Given the description of an element on the screen output the (x, y) to click on. 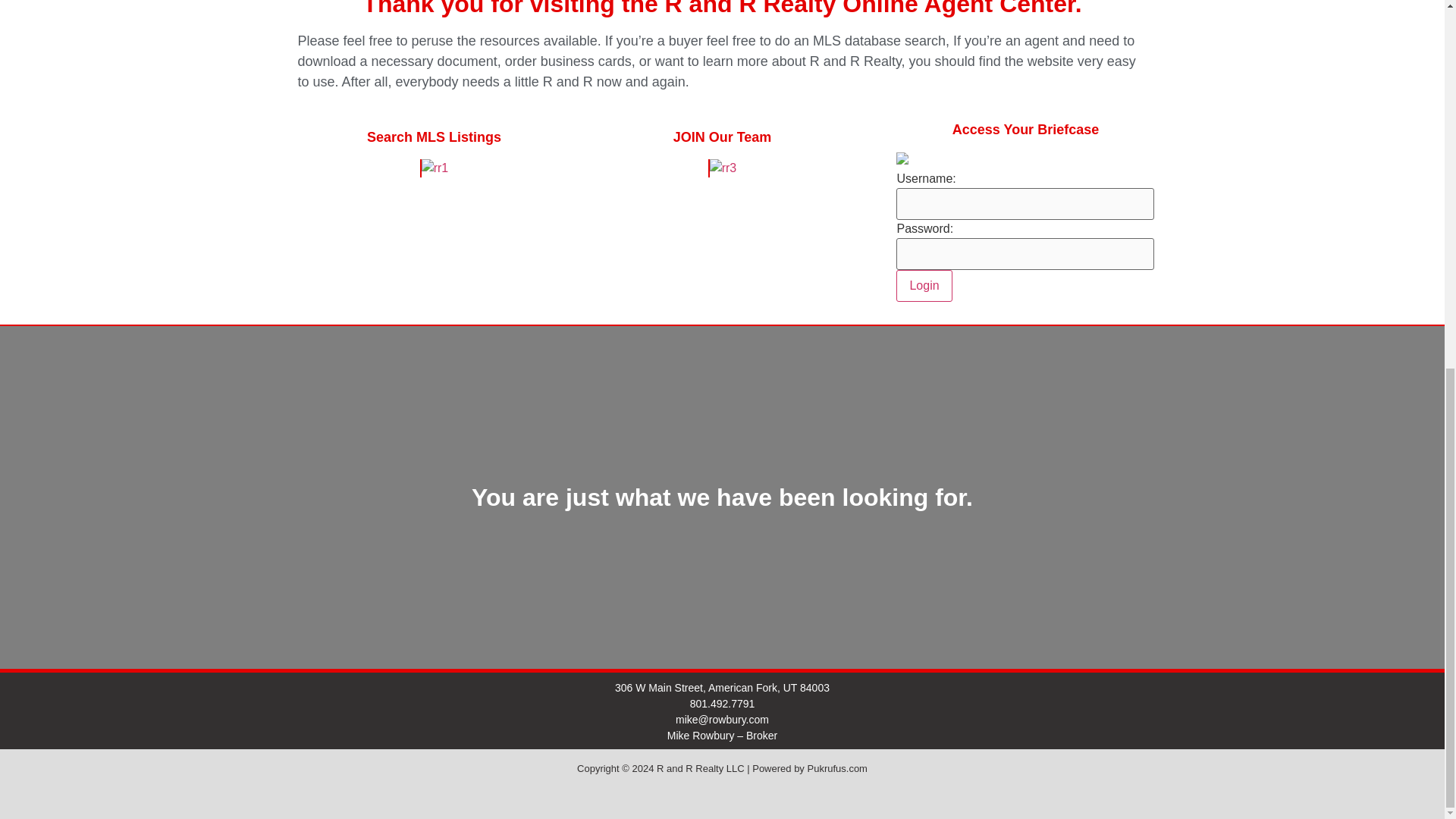
Login (924, 286)
Login (924, 286)
rr1 (434, 167)
rr3 (721, 167)
